Given the description of an element on the screen output the (x, y) to click on. 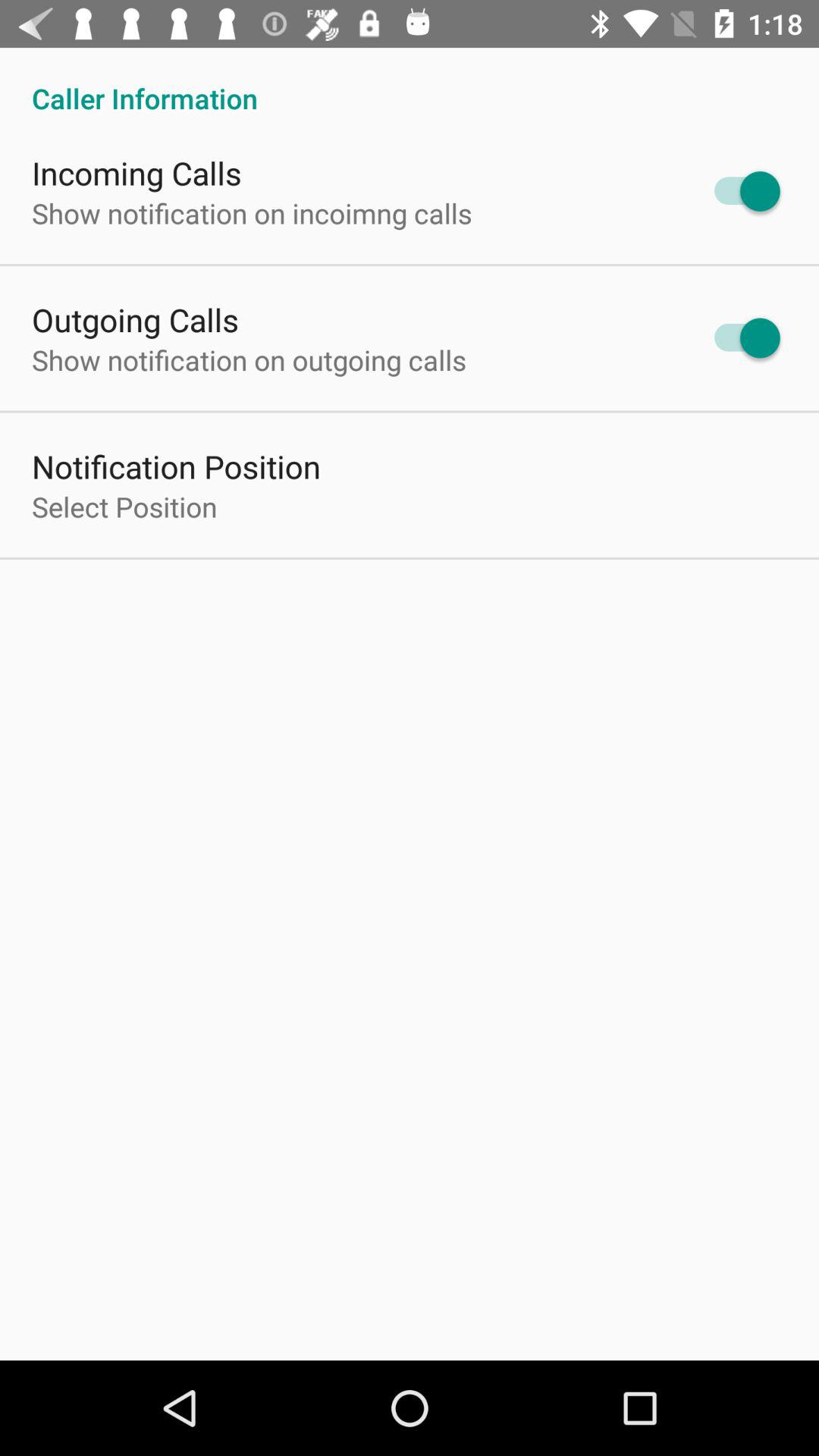
scroll to select position icon (124, 506)
